Given the description of an element on the screen output the (x, y) to click on. 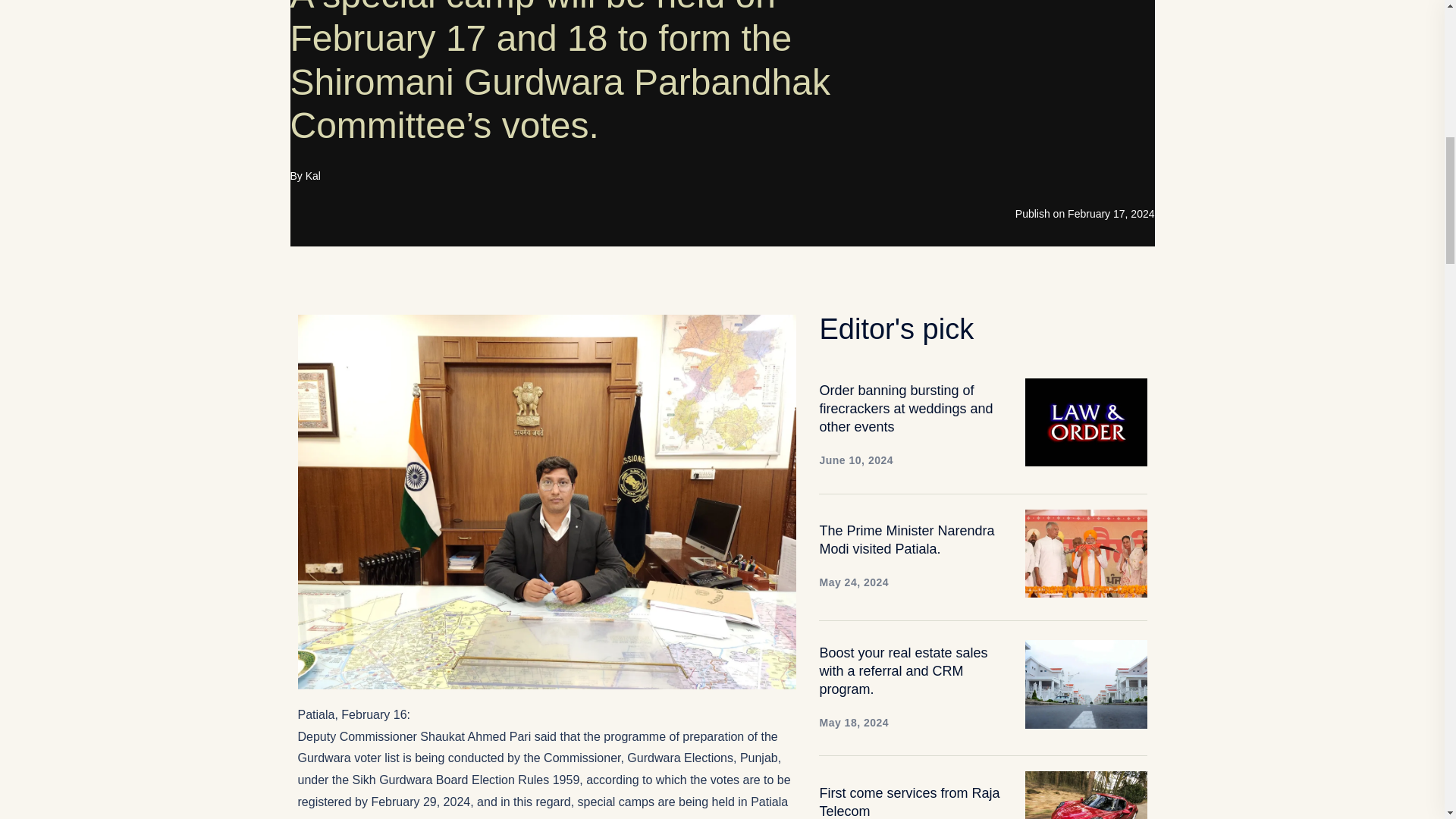
The Prime Minister Narendra Modi visited Patiala. (1086, 552)
